Given the description of an element on the screen output the (x, y) to click on. 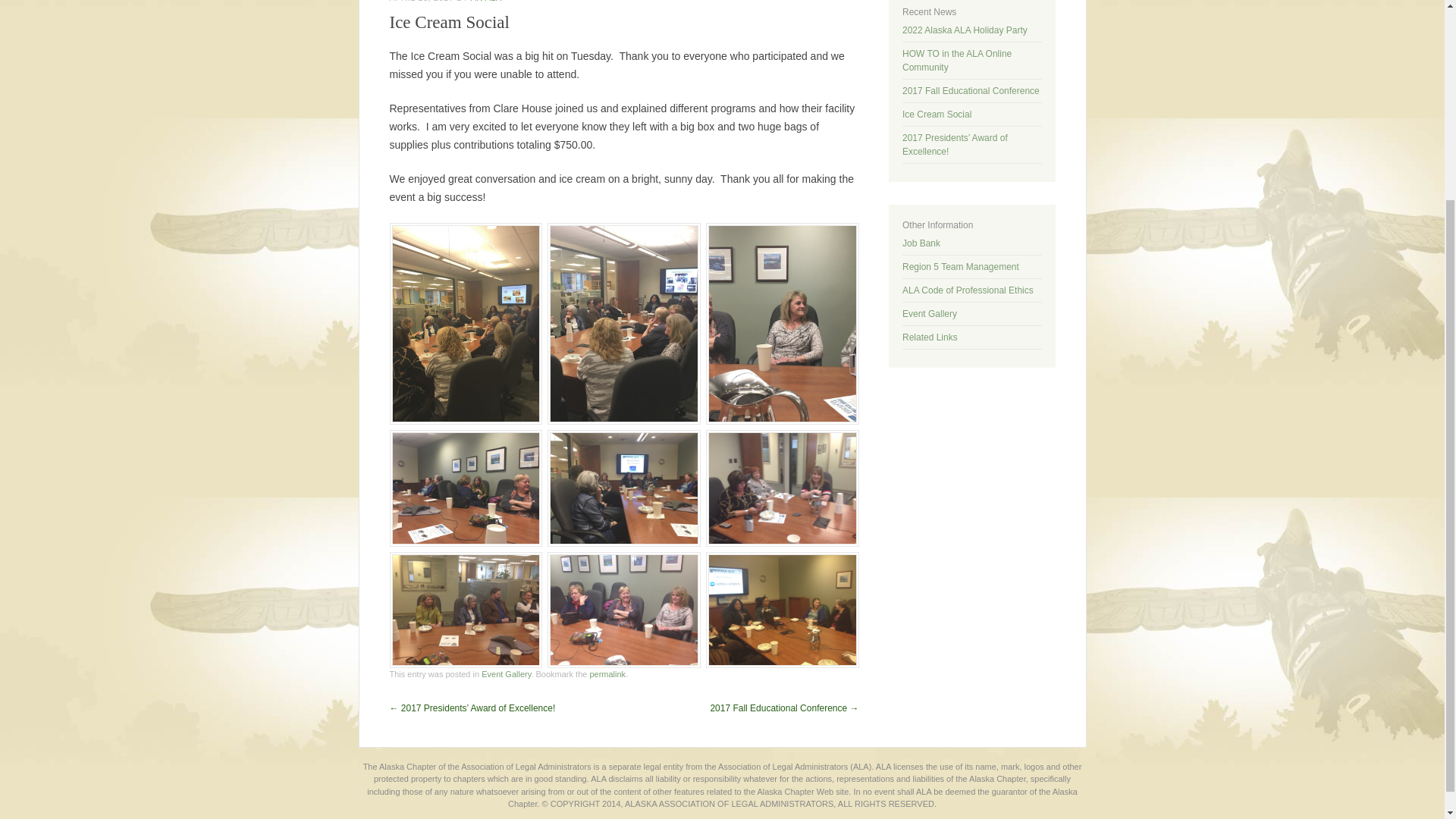
HOW TO in the ALA Online Community (956, 60)
2022 Alaska ALA Holiday Party (964, 30)
2017 Fall Educational Conference (970, 90)
View all posts by AK ALA (486, 1)
AK ALA (486, 1)
APRIL 13, 2017 (422, 1)
Ice Cream Social (936, 113)
Region 5 Team Management (960, 266)
Job Bank (921, 243)
2:51 pm (422, 1)
